Given the description of an element on the screen output the (x, y) to click on. 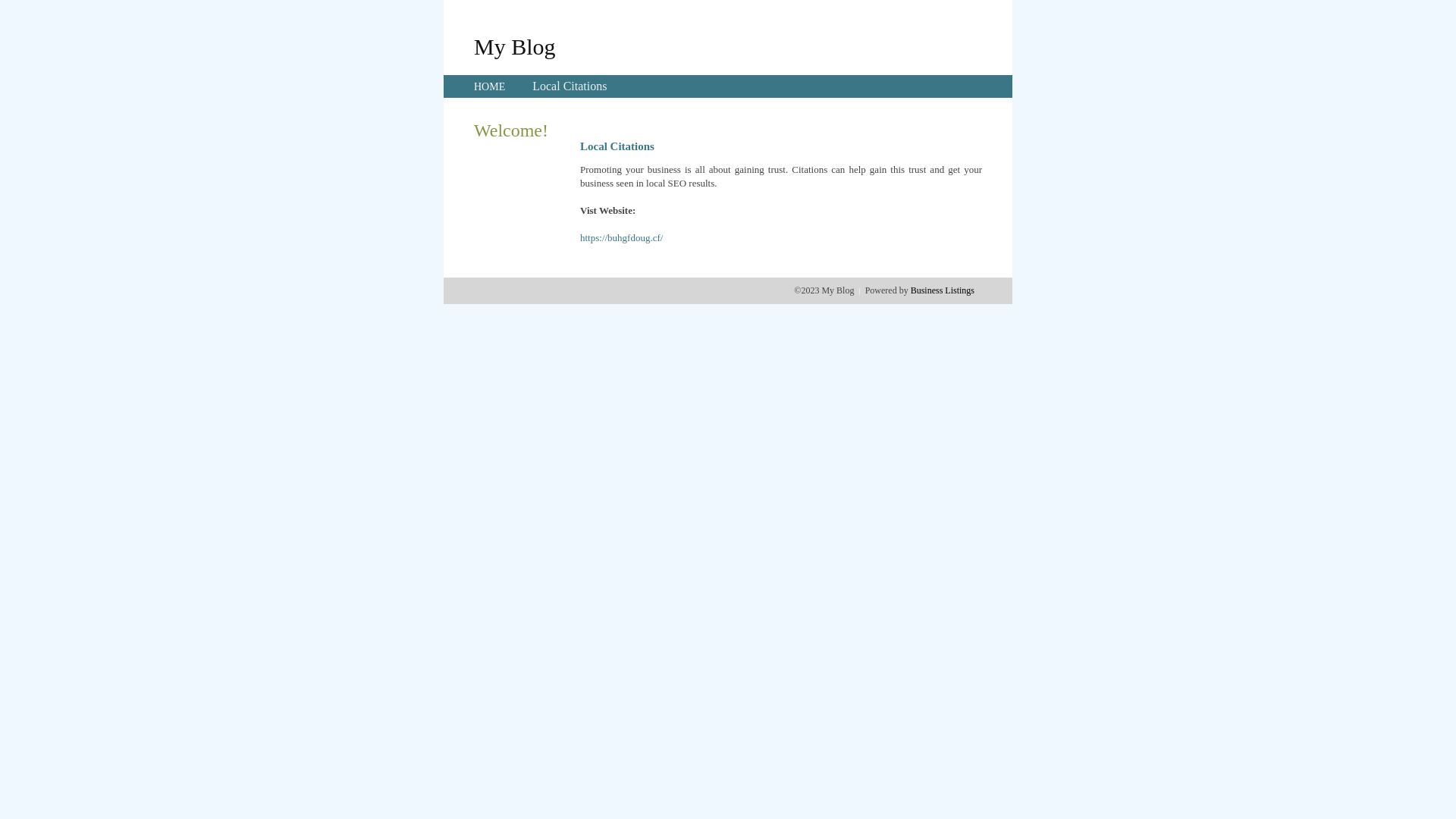
My Blog Element type: text (514, 46)
HOME Element type: text (489, 86)
https://buhgfdoug.cf/ Element type: text (621, 237)
Local Citations Element type: text (569, 85)
Business Listings Element type: text (942, 290)
